Given the description of an element on the screen output the (x, y) to click on. 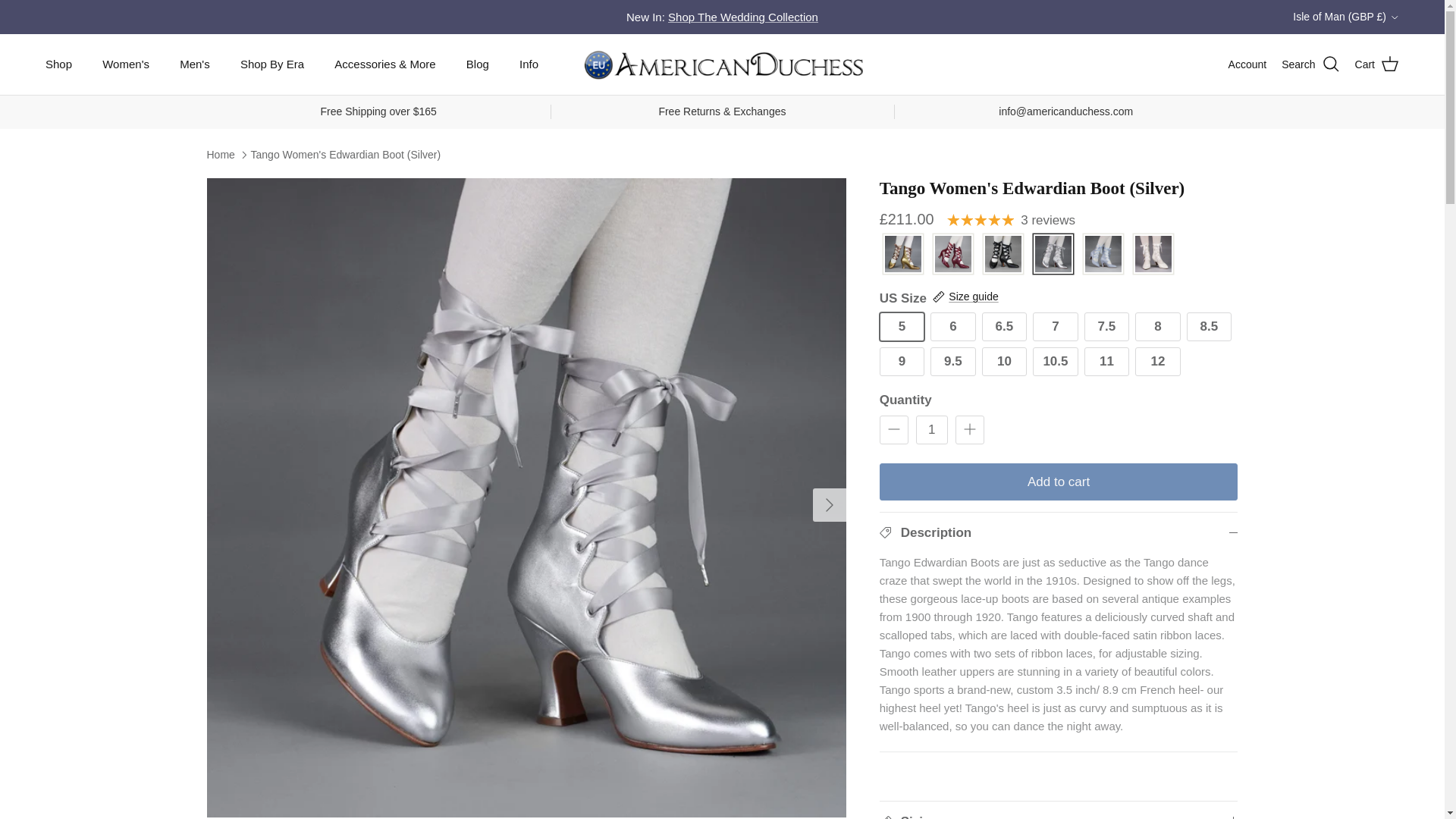
Shop The Wedding Collection (743, 16)
Sky Blue (1103, 254)
Cart (1377, 64)
Info (528, 64)
Search (1310, 64)
Account (1247, 64)
Shop By Era (272, 64)
Shop (58, 64)
Antique Gold (902, 254)
Black (1002, 254)
Soft White (1152, 254)
American Duchess - Europe (722, 64)
Wedding Collection (743, 16)
Women's (125, 64)
Men's (194, 64)
